Given the description of an element on the screen output the (x, y) to click on. 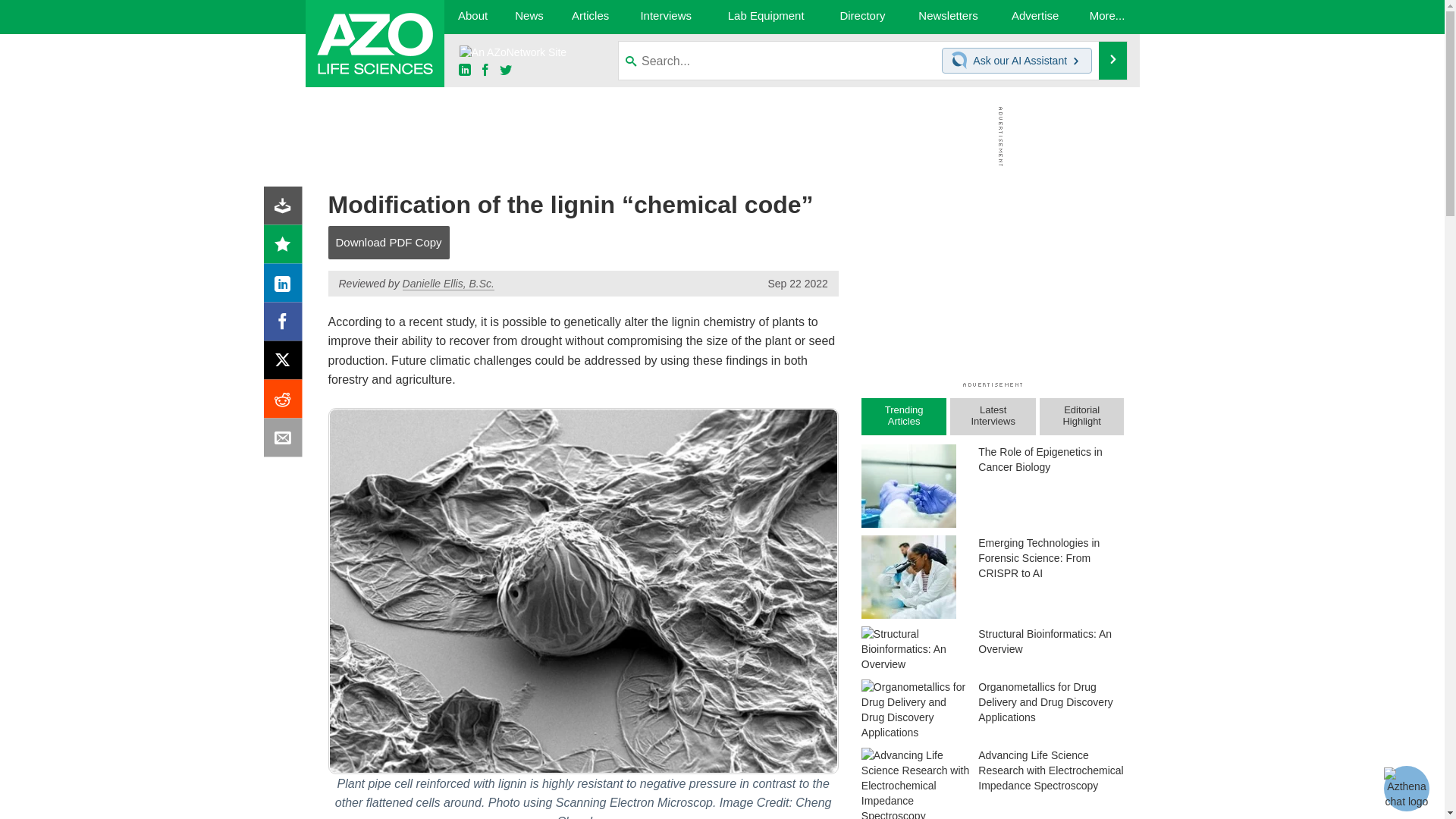
More... (1107, 17)
Directory (862, 17)
Download PDF copy (285, 208)
About (472, 17)
Facebook (285, 324)
Rating (285, 247)
LinkedIn (285, 286)
Newsletters (948, 17)
Articles (590, 17)
Chat with our AI Assistant (962, 60)
